Given the description of an element on the screen output the (x, y) to click on. 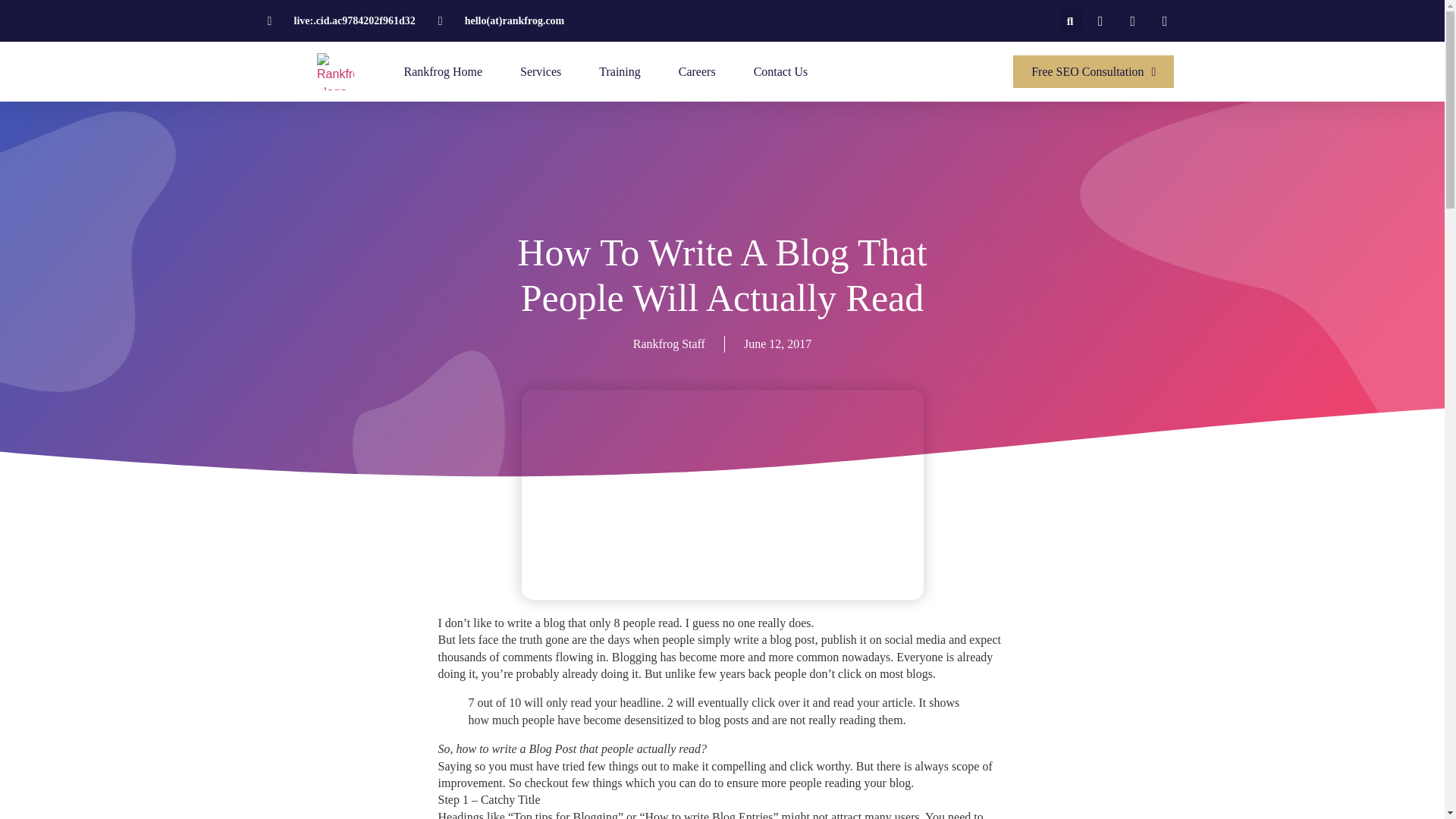
Training (619, 71)
Contact Us (781, 71)
Services (539, 71)
Rankfrog Home (442, 71)
Careers (697, 71)
